Given the description of an element on the screen output the (x, y) to click on. 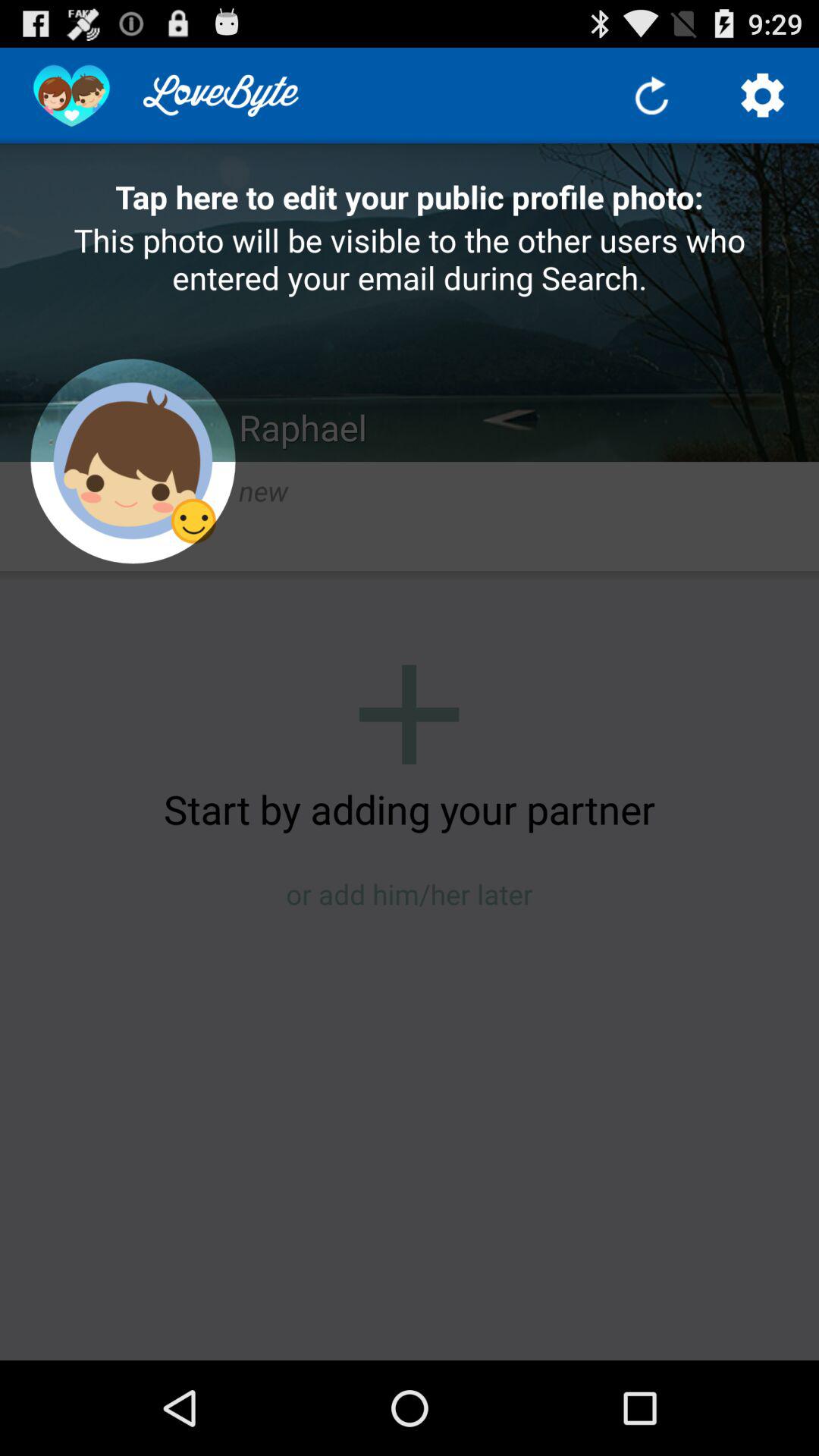
launch icon below the start by adding icon (409, 893)
